Given the description of an element on the screen output the (x, y) to click on. 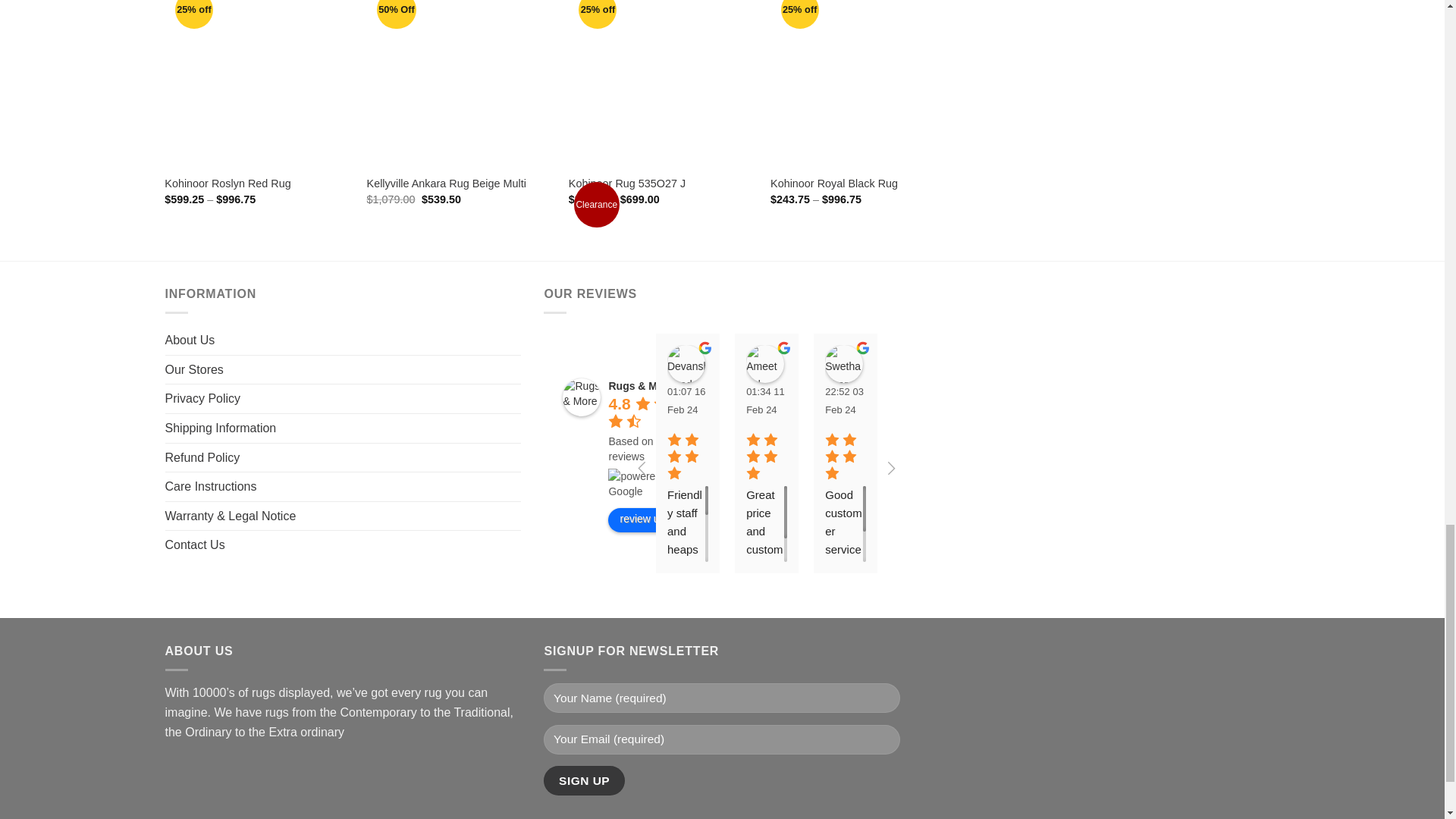
Sign Up (583, 780)
